Given the description of an element on the screen output the (x, y) to click on. 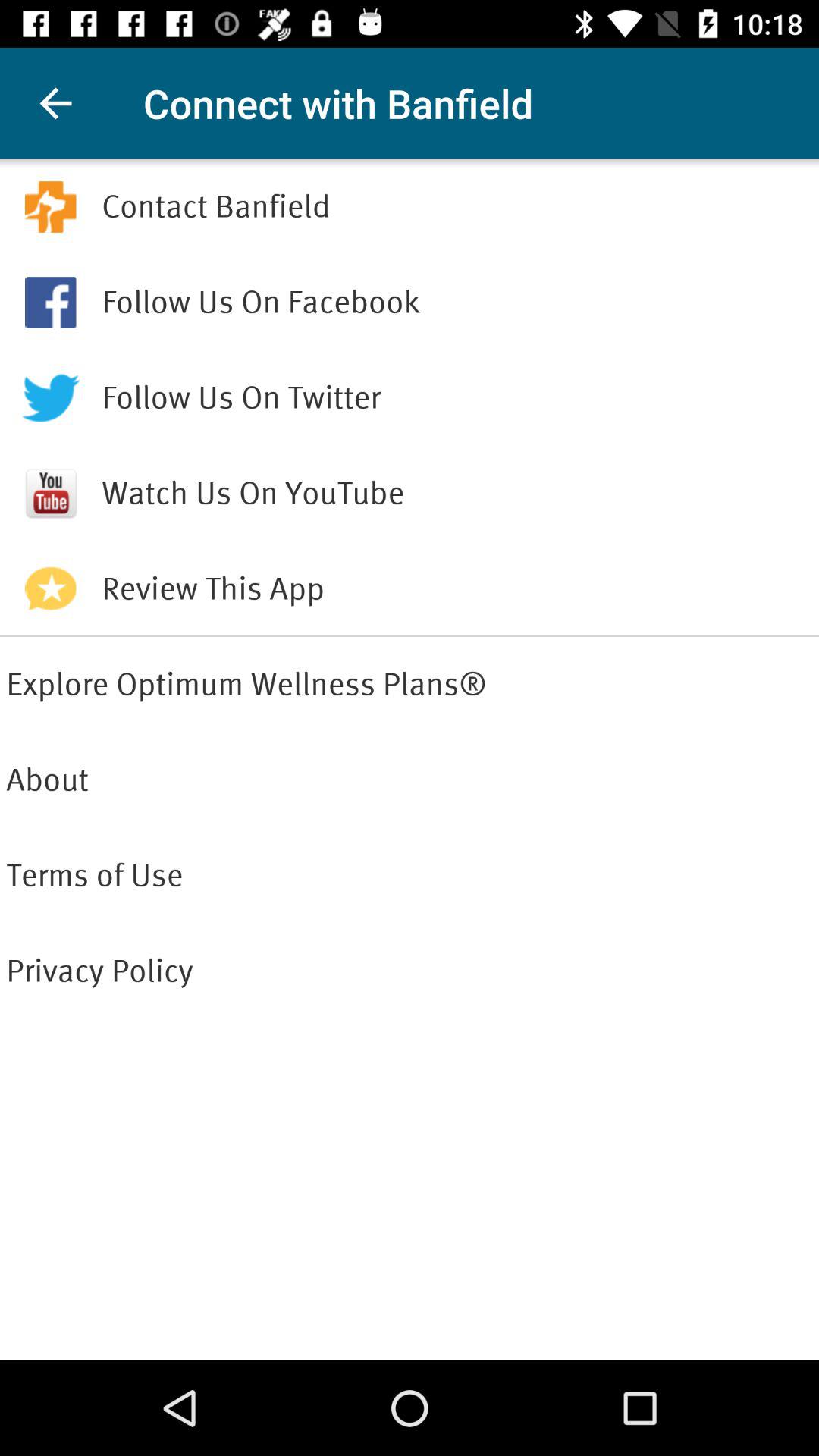
select item next to the connect with banfield (55, 103)
